Given the description of an element on the screen output the (x, y) to click on. 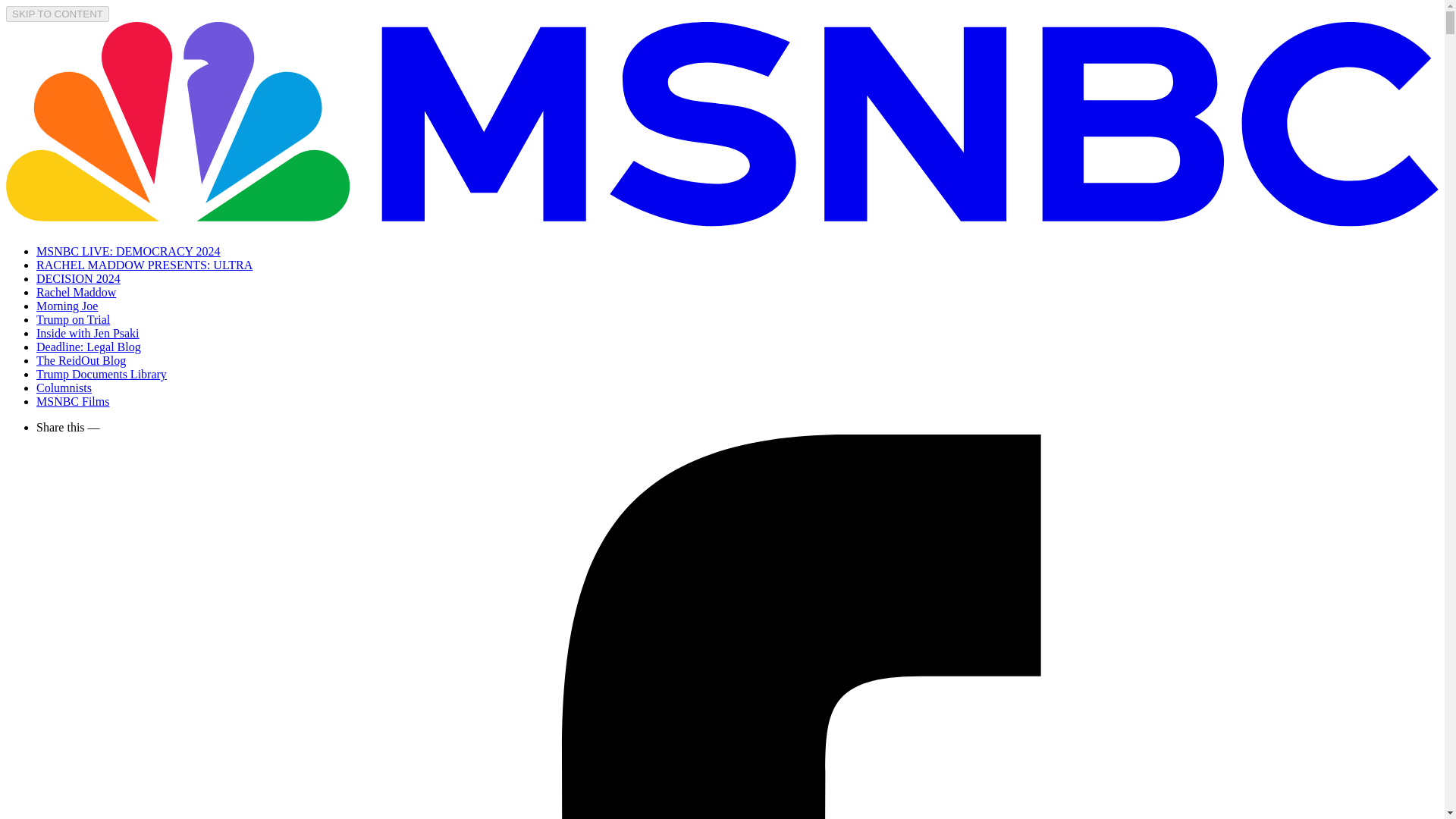
Trump Documents Library (101, 373)
Inside with Jen Psaki (87, 332)
Trump on Trial (73, 318)
DECISION 2024 (78, 278)
RACHEL MADDOW PRESENTS: ULTRA (143, 264)
Rachel Maddow (76, 291)
Deadline: Legal Blog (88, 346)
Morning Joe (66, 305)
The ReidOut Blog (80, 359)
MSNBC Films (72, 400)
SKIP TO CONTENT (57, 13)
Columnists (63, 387)
MSNBC LIVE: DEMOCRACY 2024 (128, 250)
